Given the description of an element on the screen output the (x, y) to click on. 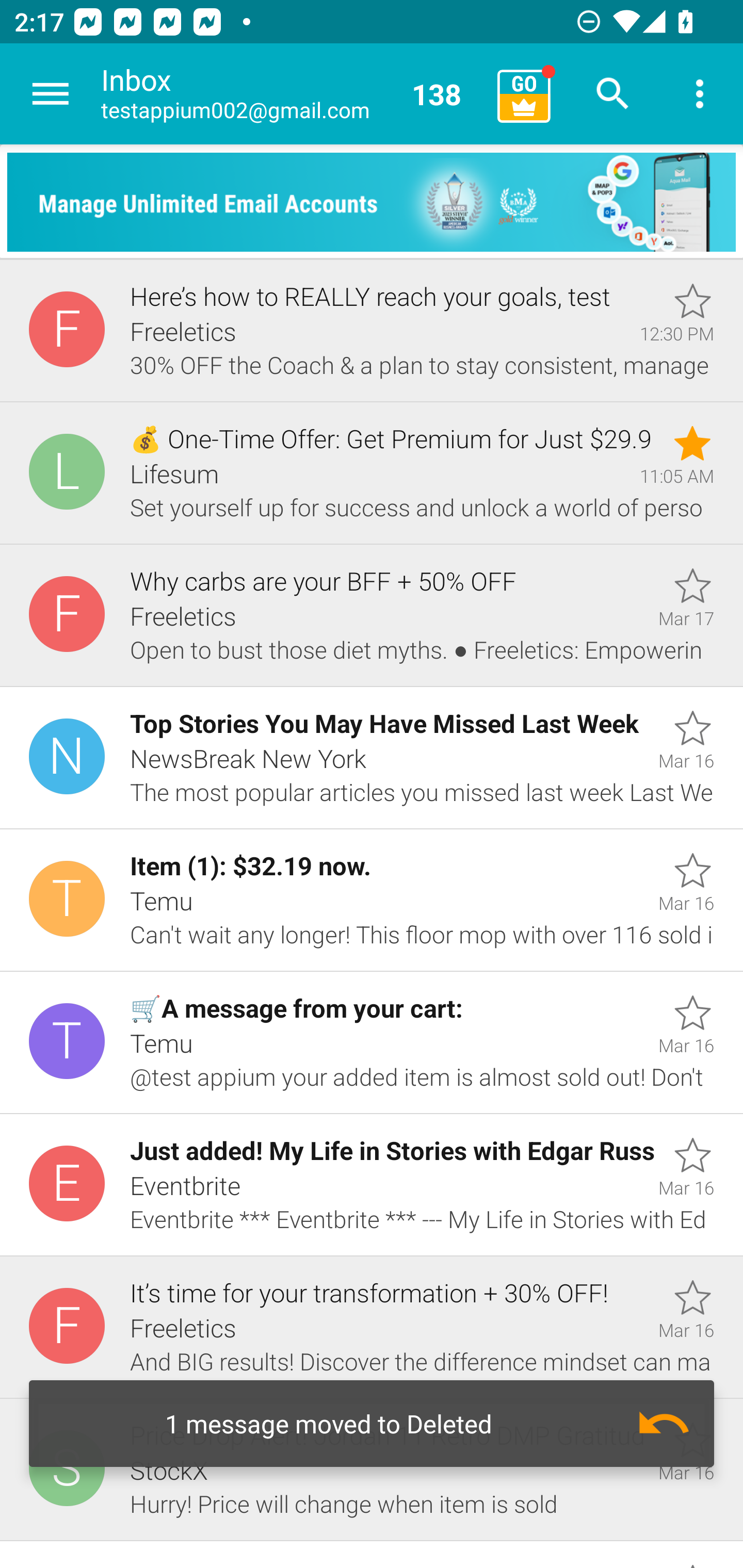
Navigate up (50, 93)
Inbox testappium002@gmail.com 138 (291, 93)
Search (612, 93)
More options (699, 93)
Undo 1 message moved to Deleted (371, 1423)
